Given the description of an element on the screen output the (x, y) to click on. 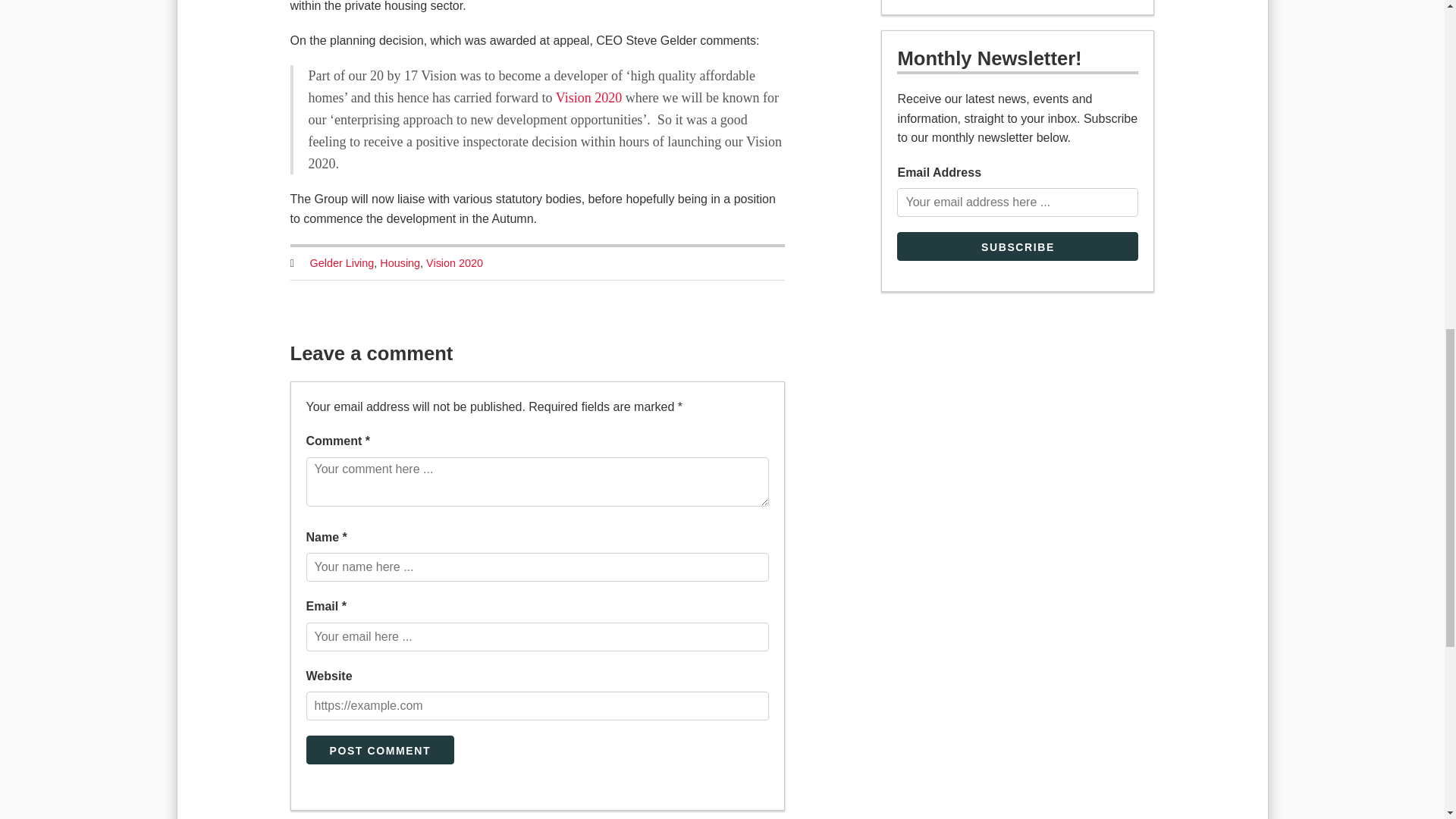
Subscribe (1017, 246)
Post Comment (379, 749)
Vision 2020 (454, 262)
Post Comment (379, 749)
Gelder Living (341, 262)
Vision 2020 (588, 97)
Housing (400, 262)
